Given the description of an element on the screen output the (x, y) to click on. 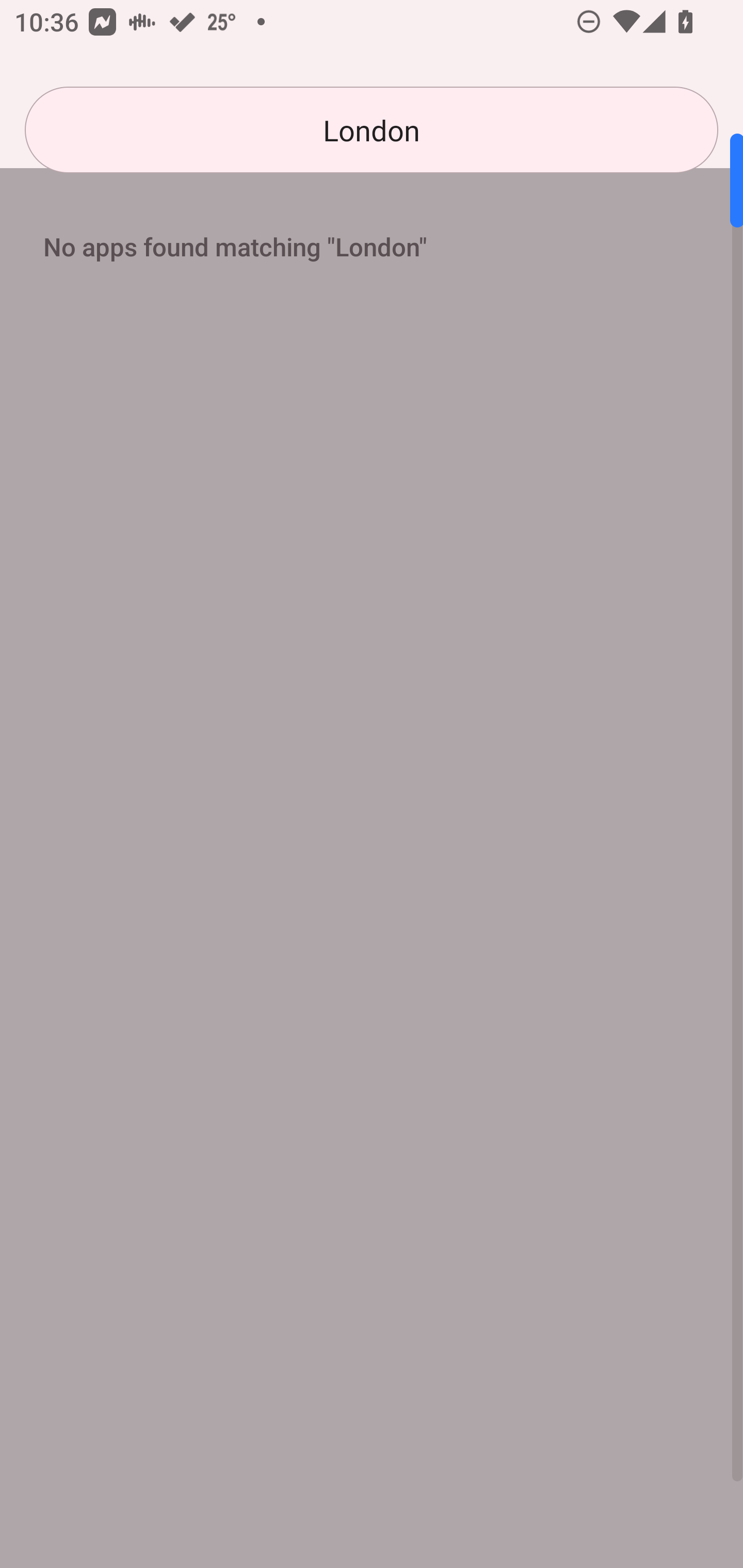
London (371, 130)
